Given the description of an element on the screen output the (x, y) to click on. 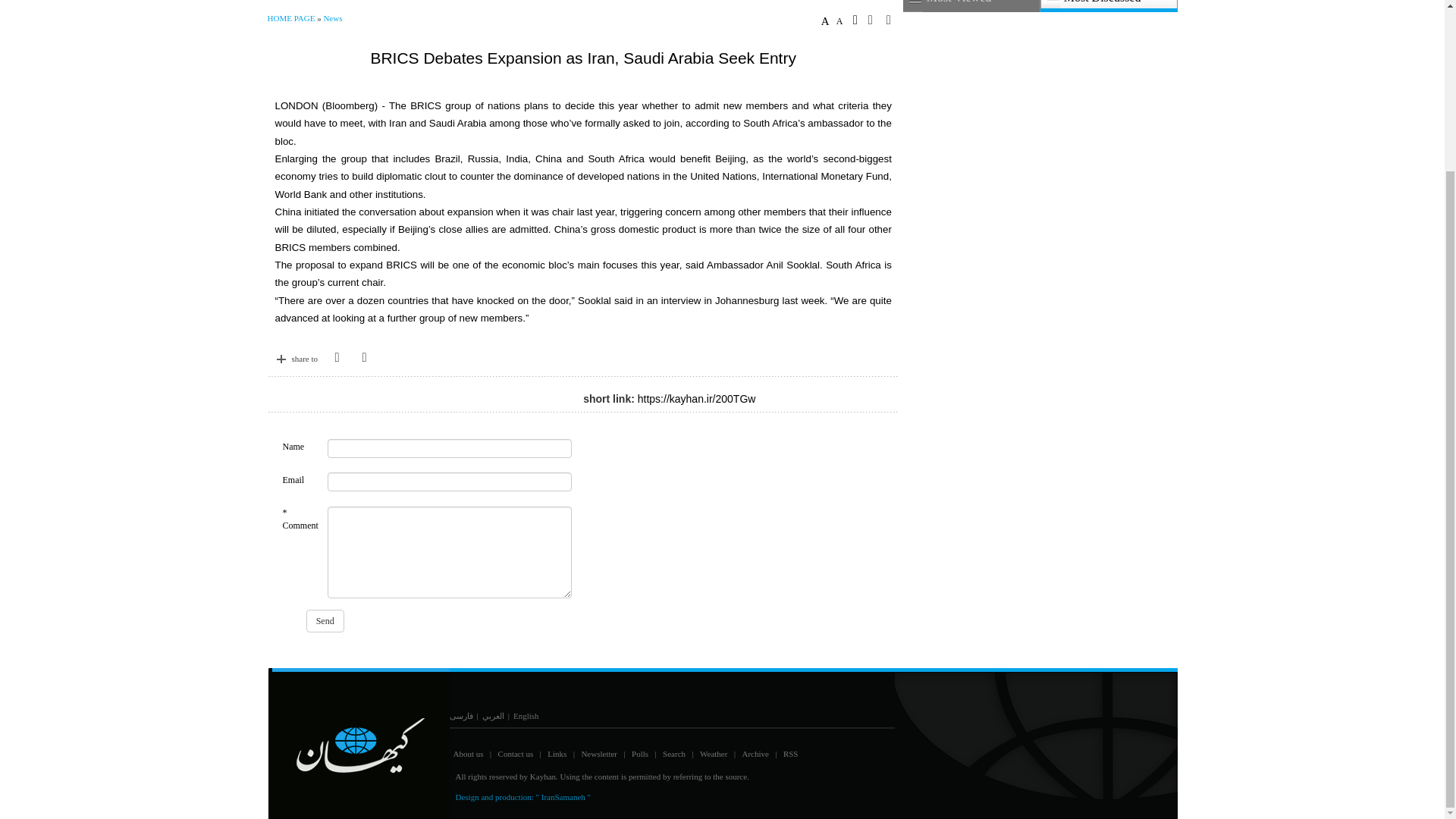
HOME PAGE (291, 17)
Send (324, 620)
Send to friends (364, 371)
Comments (336, 370)
News (332, 17)
Email (364, 370)
Print (892, 19)
A (827, 21)
Send to friends (874, 19)
Most Viewed (971, 6)
A (841, 21)
Save (858, 19)
share to (298, 358)
Most Discussed (1109, 6)
share to (298, 358)
